Given the description of an element on the screen output the (x, y) to click on. 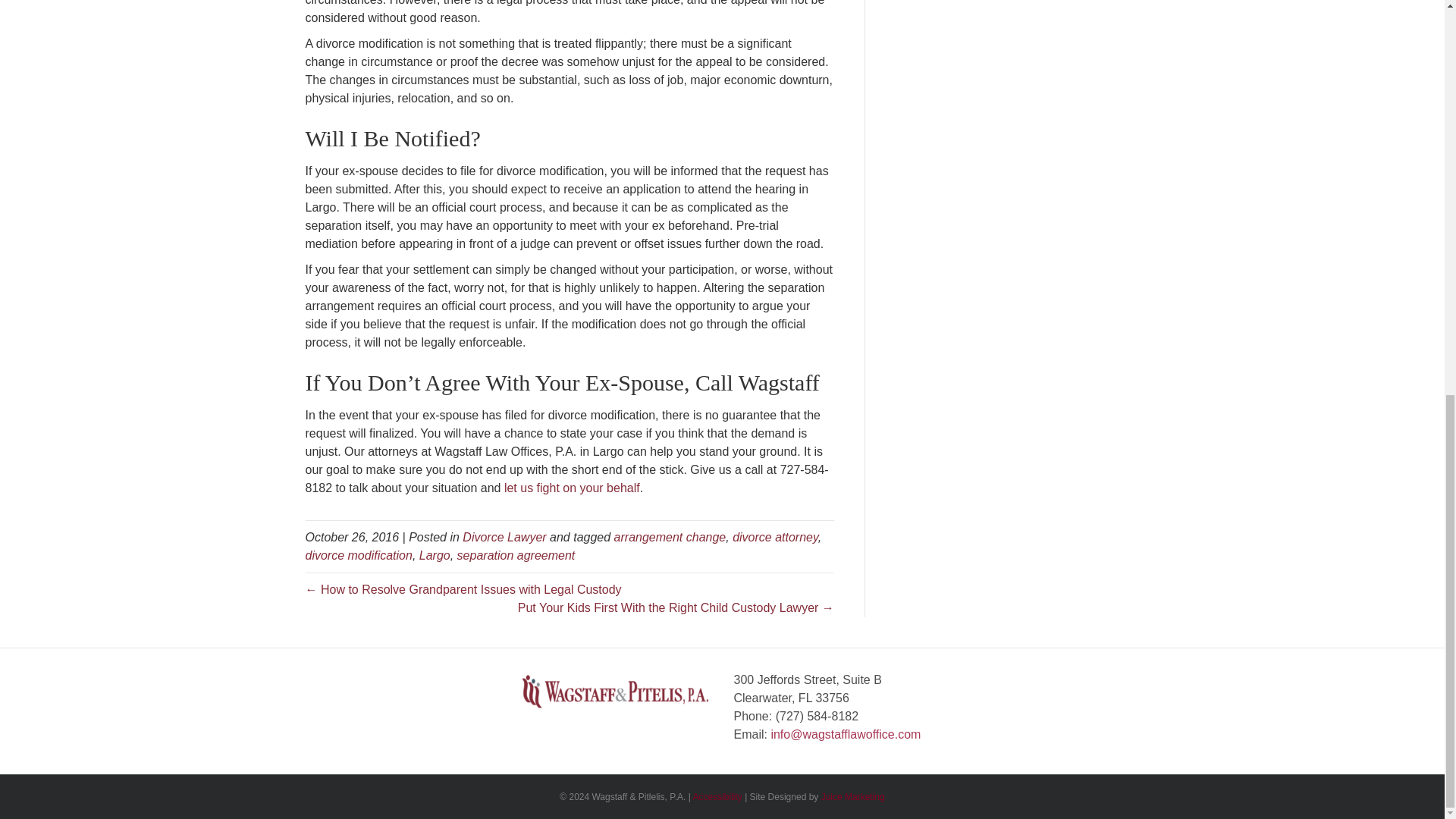
arrangement change (670, 536)
Largo (434, 554)
Divorce Lawyer (504, 536)
divorce modification (358, 554)
separation agreement (516, 554)
divorce attorney (775, 536)
let us fight on your behalf (571, 487)
